Given the description of an element on the screen output the (x, y) to click on. 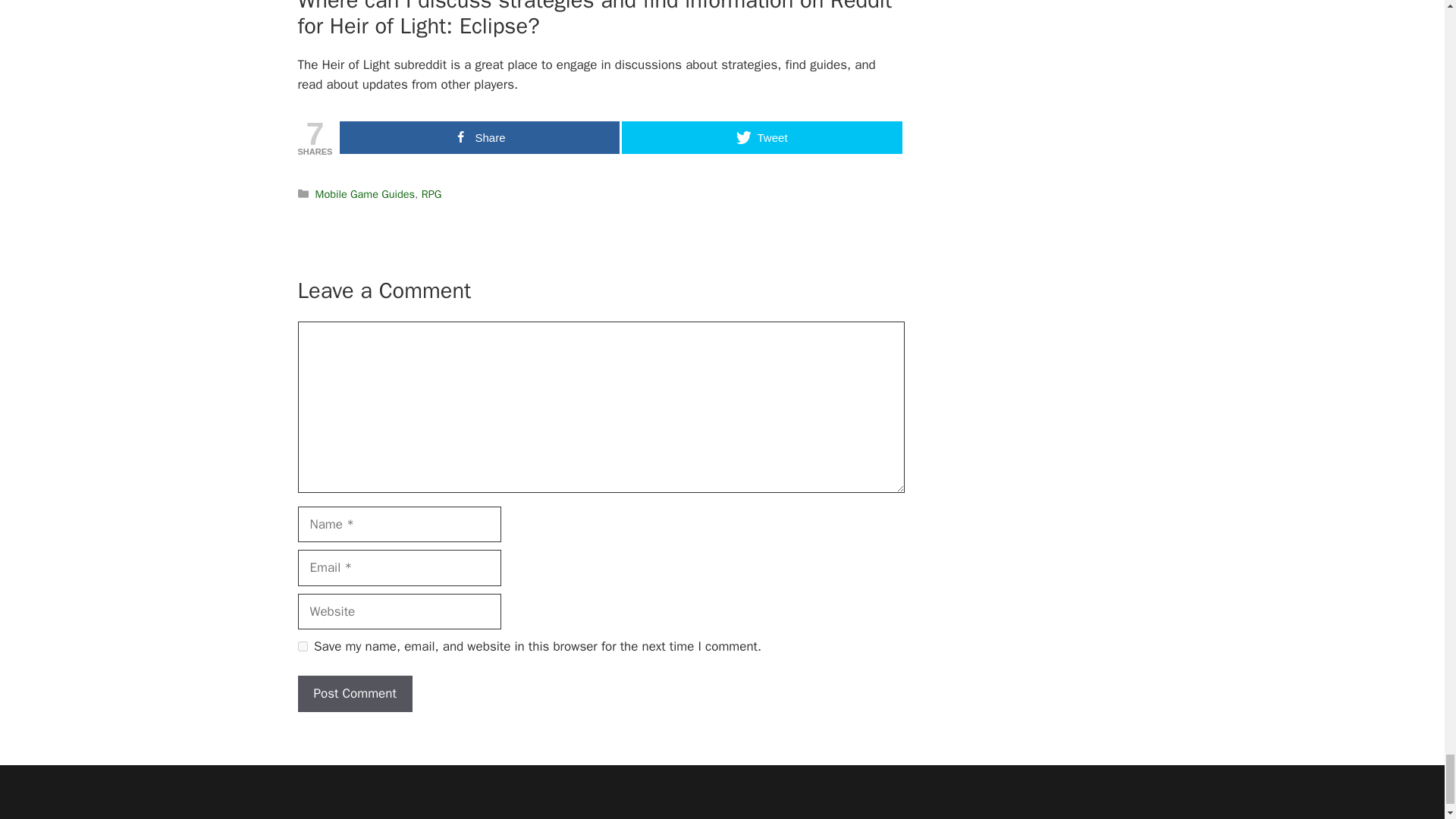
yes (302, 646)
Post Comment (354, 693)
